Given the description of an element on the screen output the (x, y) to click on. 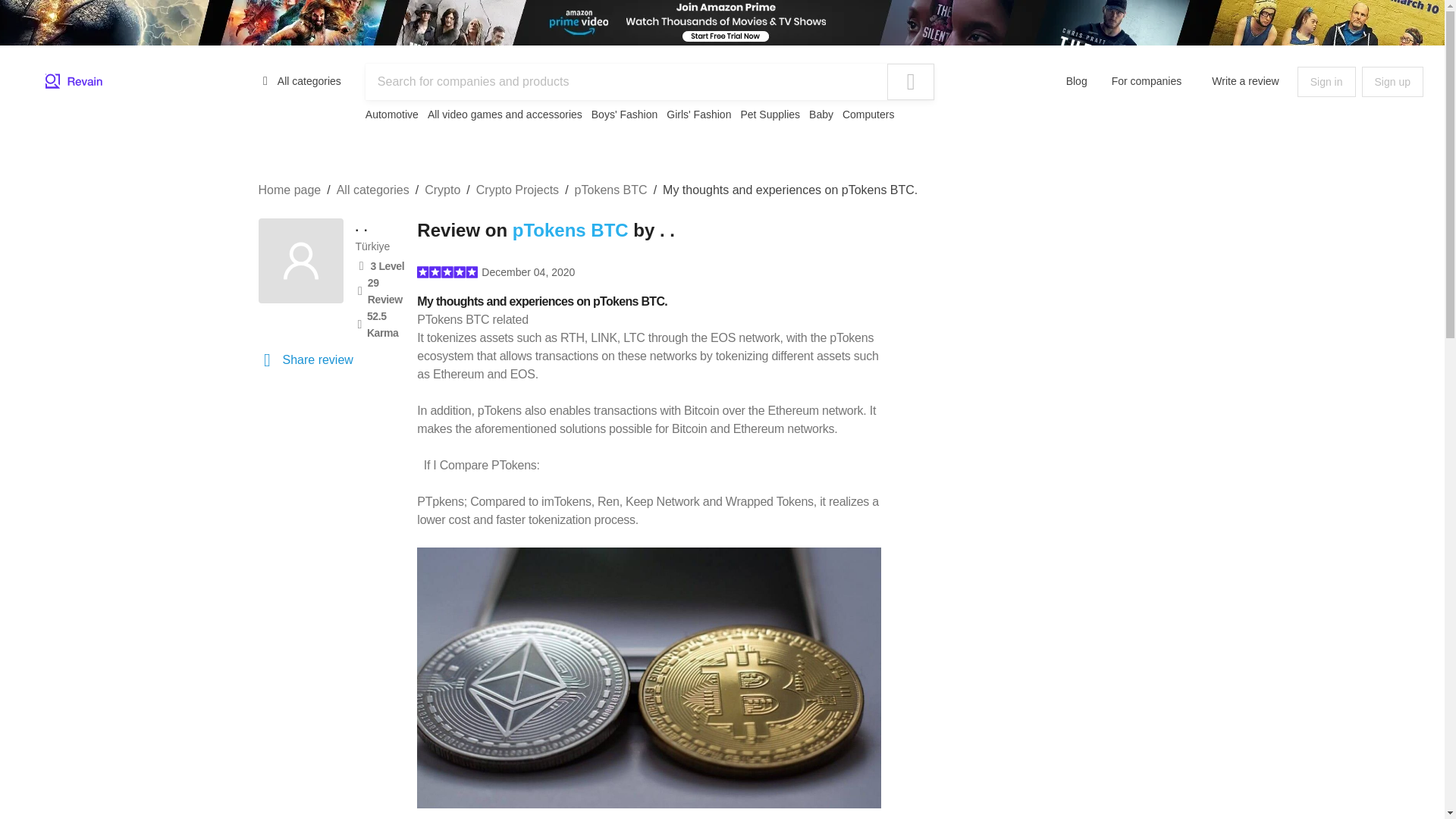
Home Page (74, 82)
Boys' Fashion (624, 113)
All categories (372, 190)
Computers (868, 113)
Girls' Fashion (698, 113)
Crypto (442, 190)
Pet Supplies (769, 113)
All video games and accessories (505, 113)
All categories (300, 80)
pTokens BTC (570, 230)
Sign in (1326, 81)
Search (909, 81)
Blog (1076, 80)
Crypto Projects (517, 190)
Write a review (1244, 80)
